Given the description of an element on the screen output the (x, y) to click on. 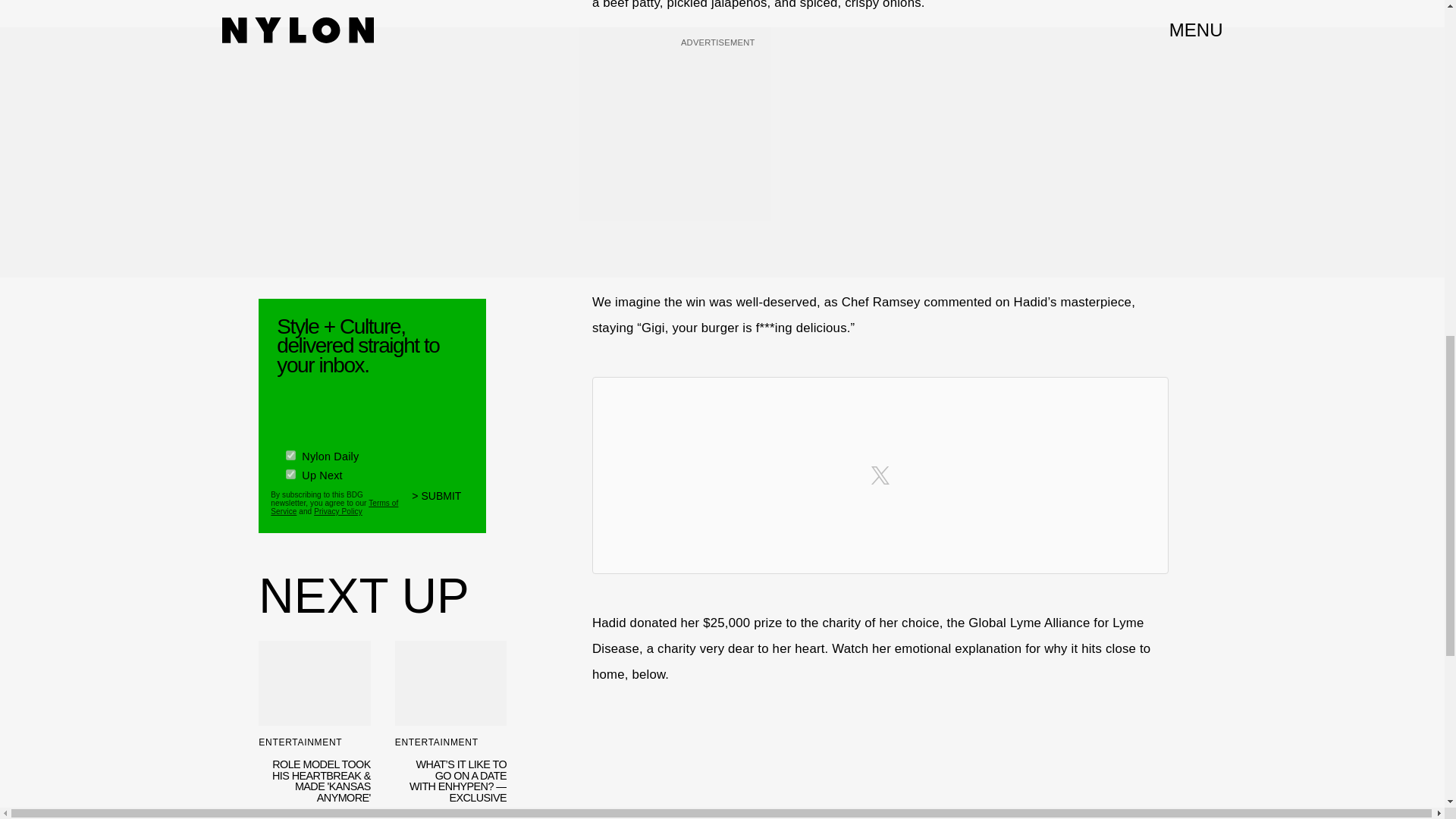
SUBMIT (443, 503)
Privacy Policy (338, 510)
Terms of Service (333, 506)
